Given the description of an element on the screen output the (x, y) to click on. 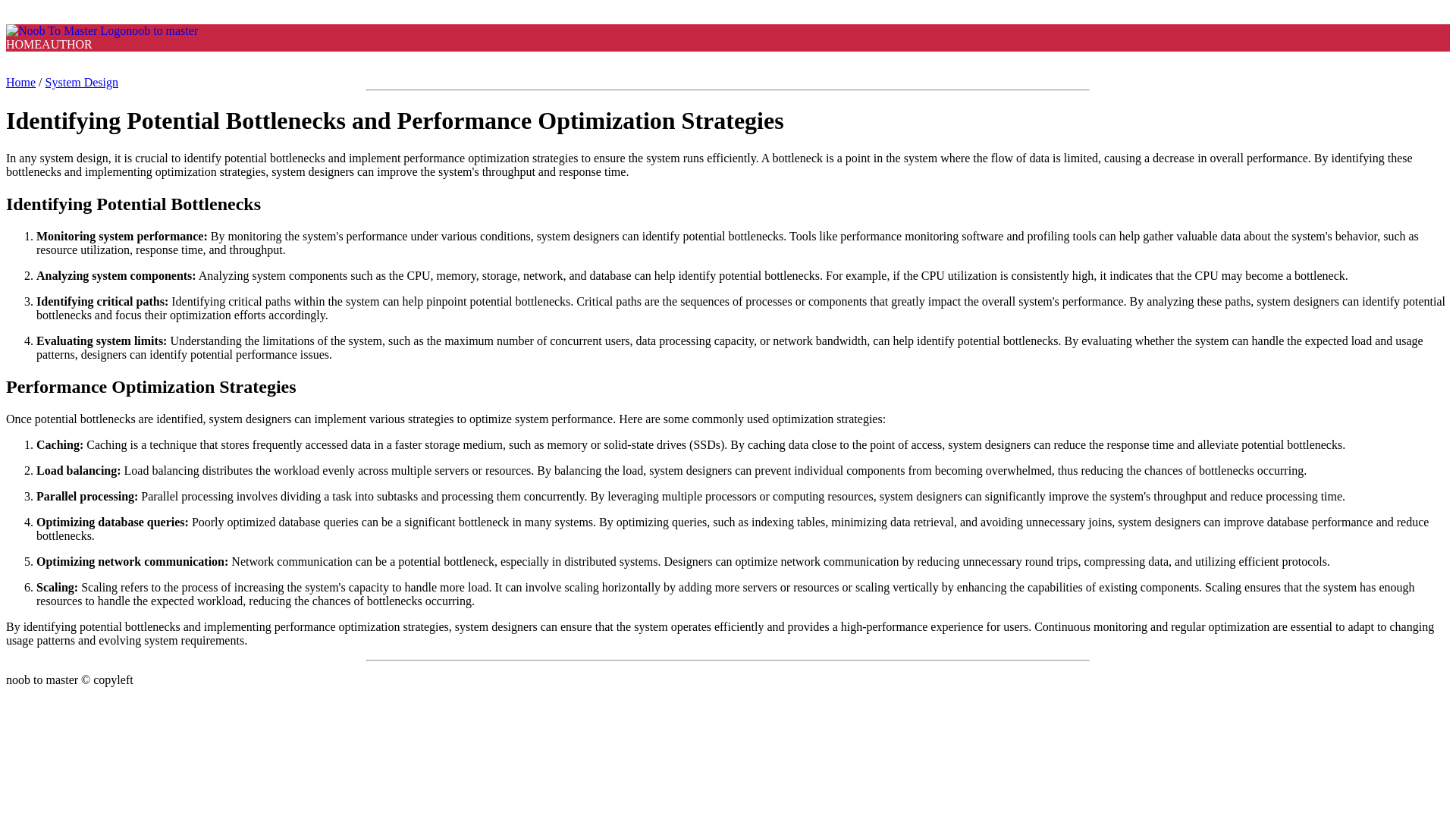
AUTHOR (67, 43)
noob to master (101, 30)
Home (19, 82)
HOME (23, 43)
System Design (81, 82)
